Given the description of an element on the screen output the (x, y) to click on. 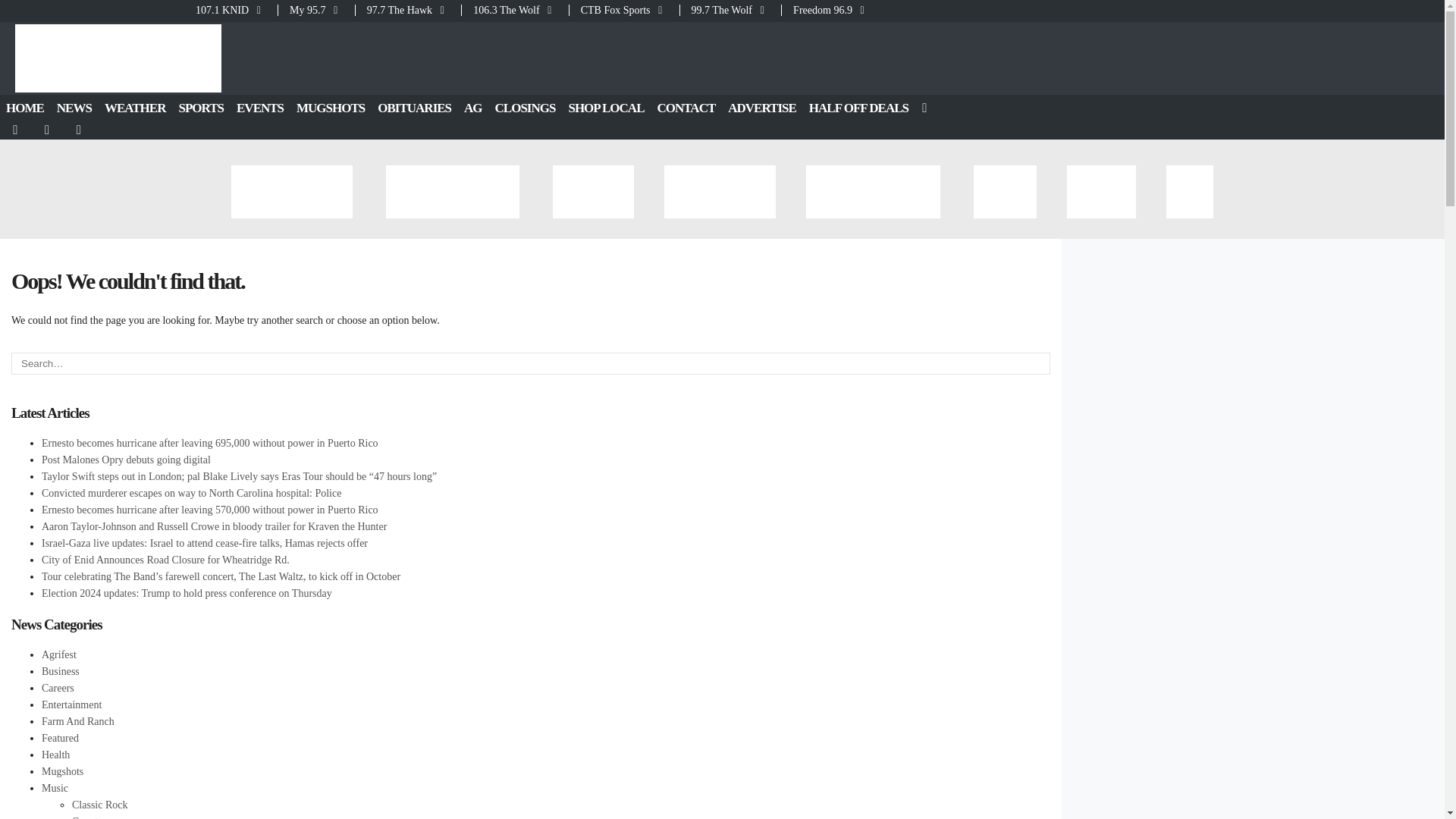
107.1 KNID (235, 9)
Post Malones Opry debuts going digital (126, 460)
Follow us on Instagram (80, 129)
Follow us on X (48, 129)
Follow us on Facebook (16, 129)
My 95.7 (316, 9)
